Given the description of an element on the screen output the (x, y) to click on. 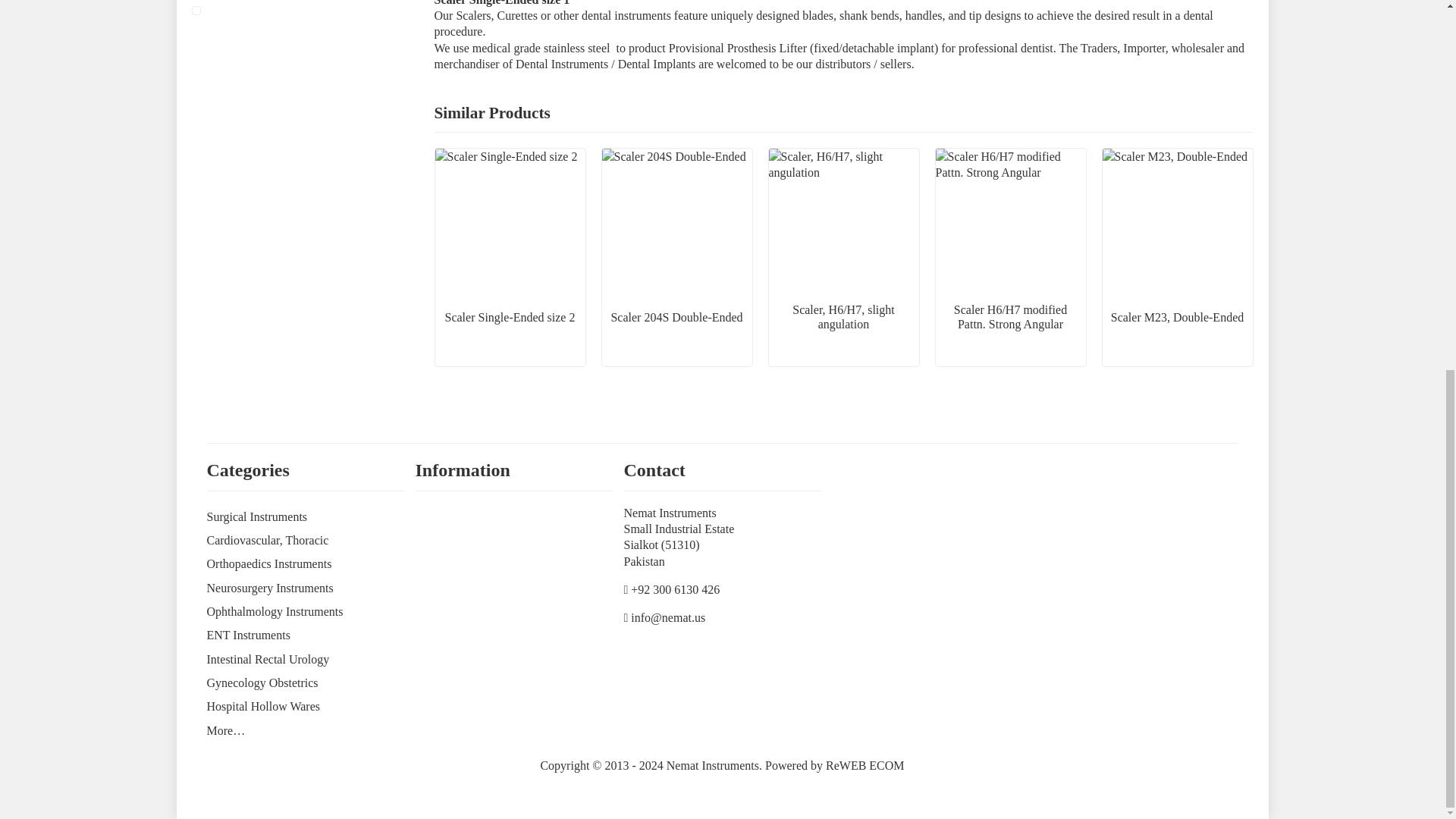
Scaler M23, Double-Ended (1177, 257)
Scaler Single-Ended size 2 (510, 257)
Scaler Single-Ended size 2 (212, 10)
Scaler 204S Double-Ended (677, 257)
ReWEB ECOM (864, 765)
